Given the description of an element on the screen output the (x, y) to click on. 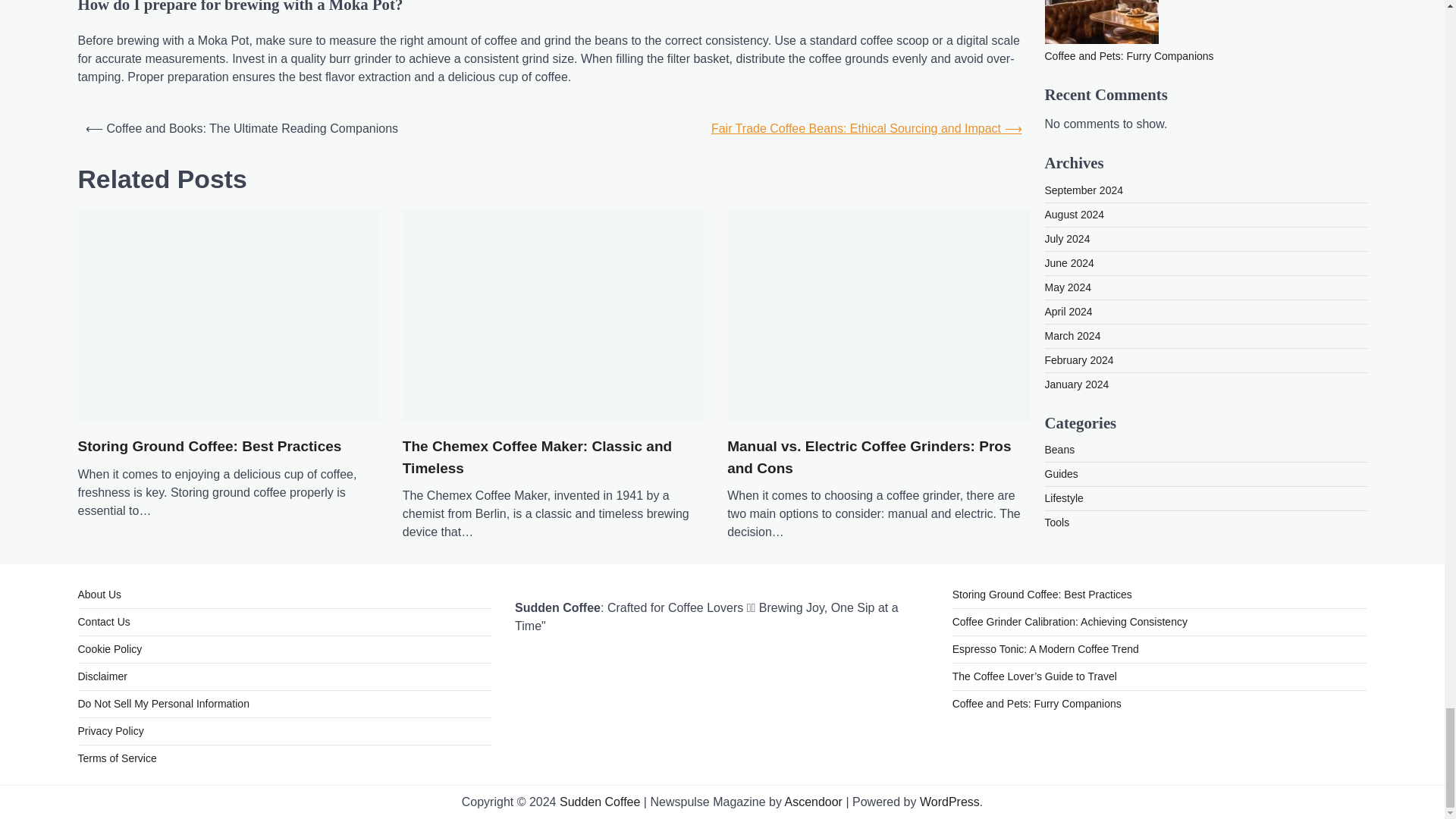
The Chemex Coffee Maker: Classic and Timeless (553, 457)
Storing Ground Coffee: Best Practices (208, 446)
Manual vs. Electric Coffee Grinders: Pros and Cons (877, 457)
